Given the description of an element on the screen output the (x, y) to click on. 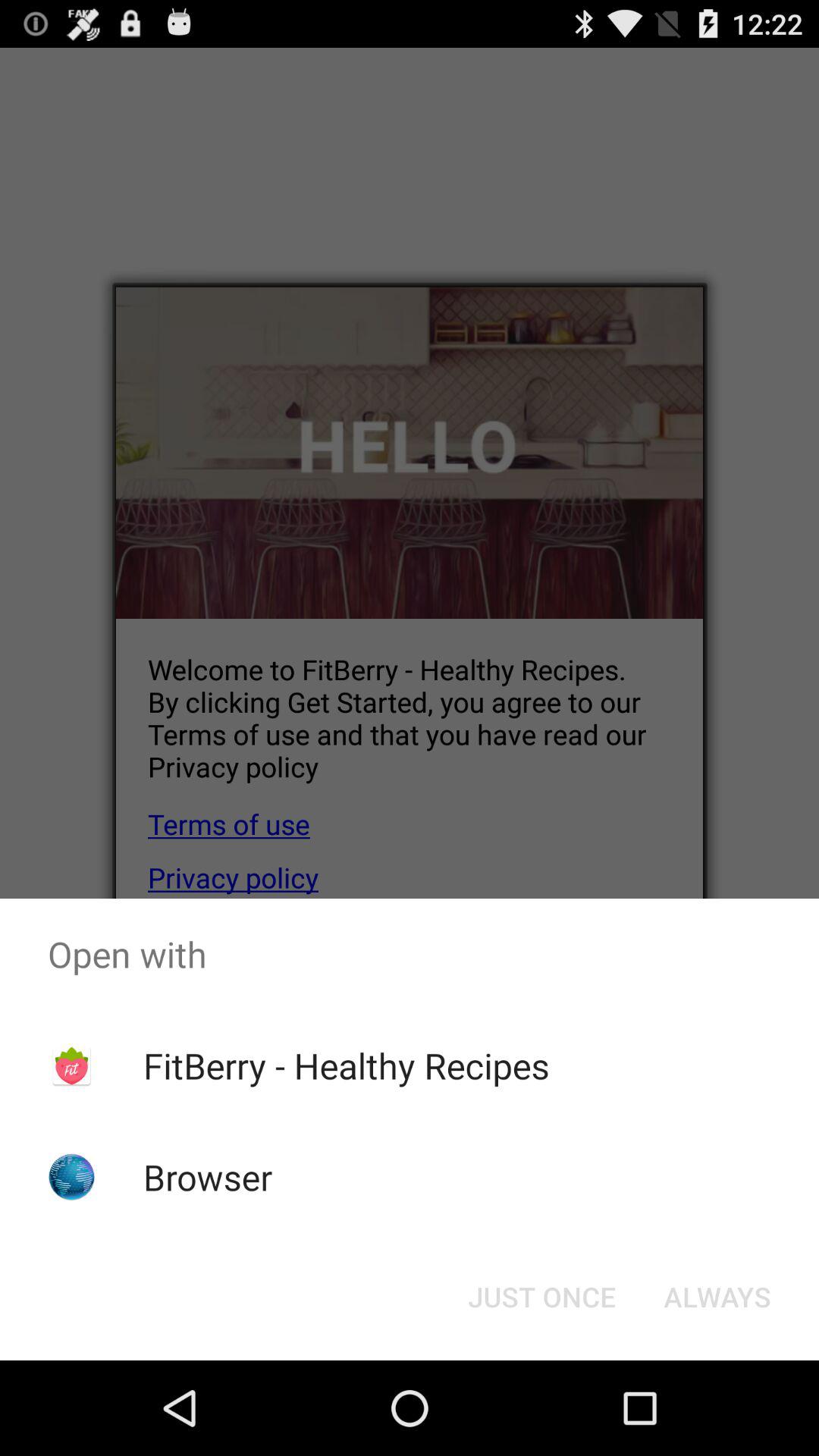
scroll to the browser icon (207, 1176)
